Given the description of an element on the screen output the (x, y) to click on. 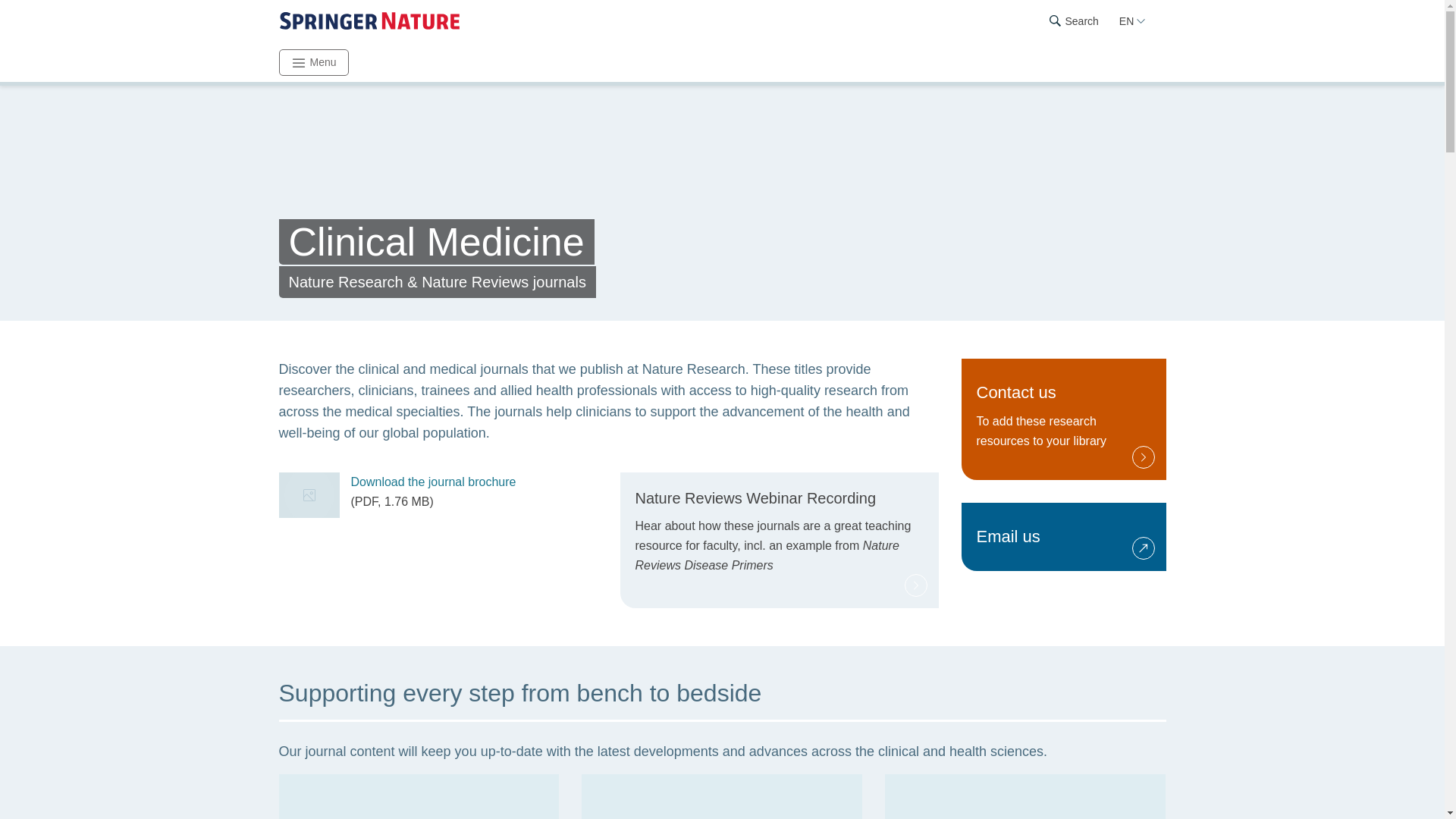
Menu (314, 62)
Webinar recording brought to you by ACRL-Choice (779, 540)
Contact us for more information (1063, 536)
Request access (1063, 418)
Springer Nature (1063, 418)
Email us (369, 20)
Download the journal brochure (1063, 536)
